Given the description of an element on the screen output the (x, y) to click on. 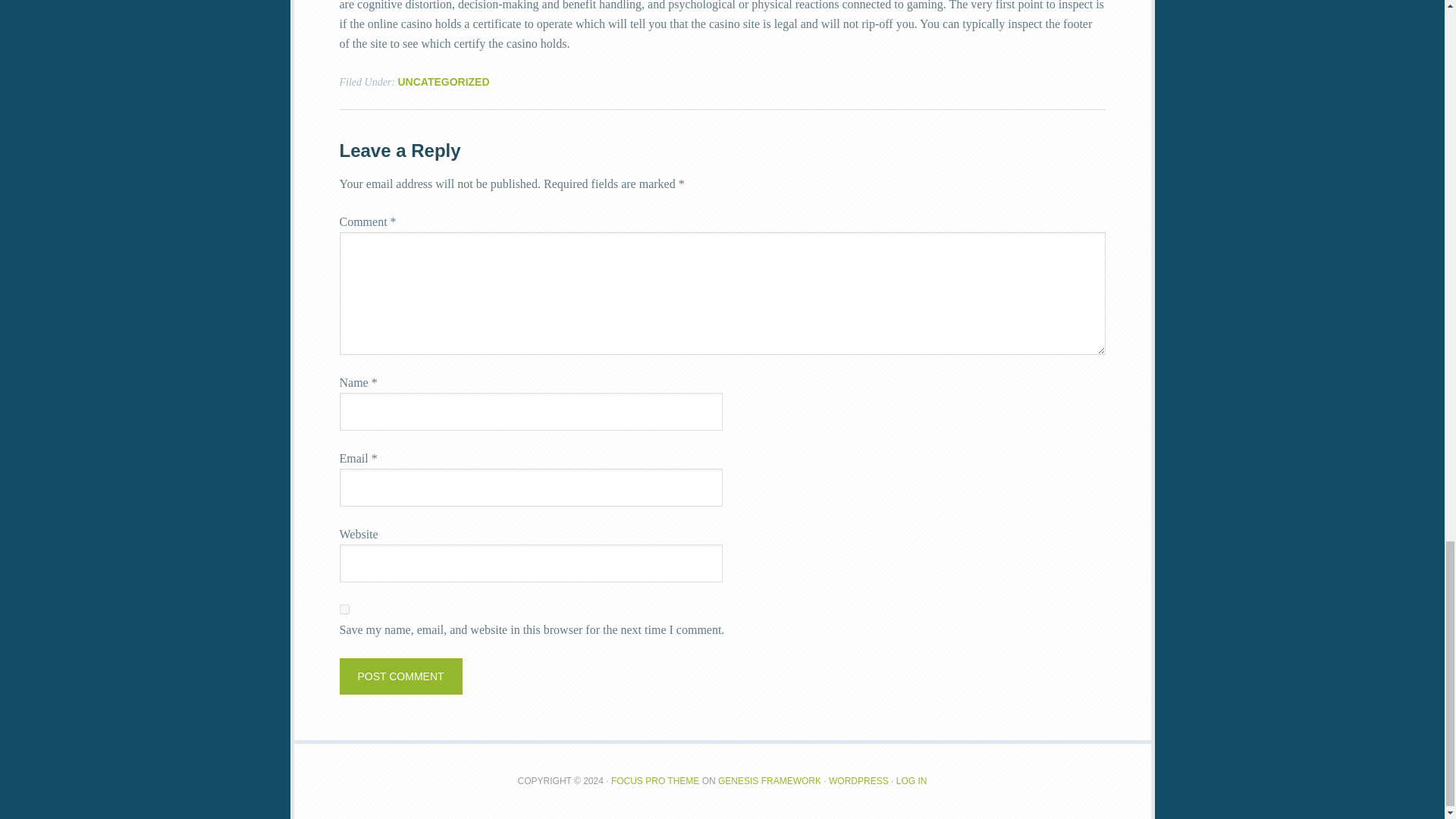
FOCUS PRO THEME (654, 780)
Post Comment (401, 676)
GENESIS FRAMEWORK (769, 780)
UNCATEGORIZED (443, 81)
LOG IN (911, 780)
yes (344, 609)
WORDPRESS (858, 780)
Post Comment (401, 676)
